Given the description of an element on the screen output the (x, y) to click on. 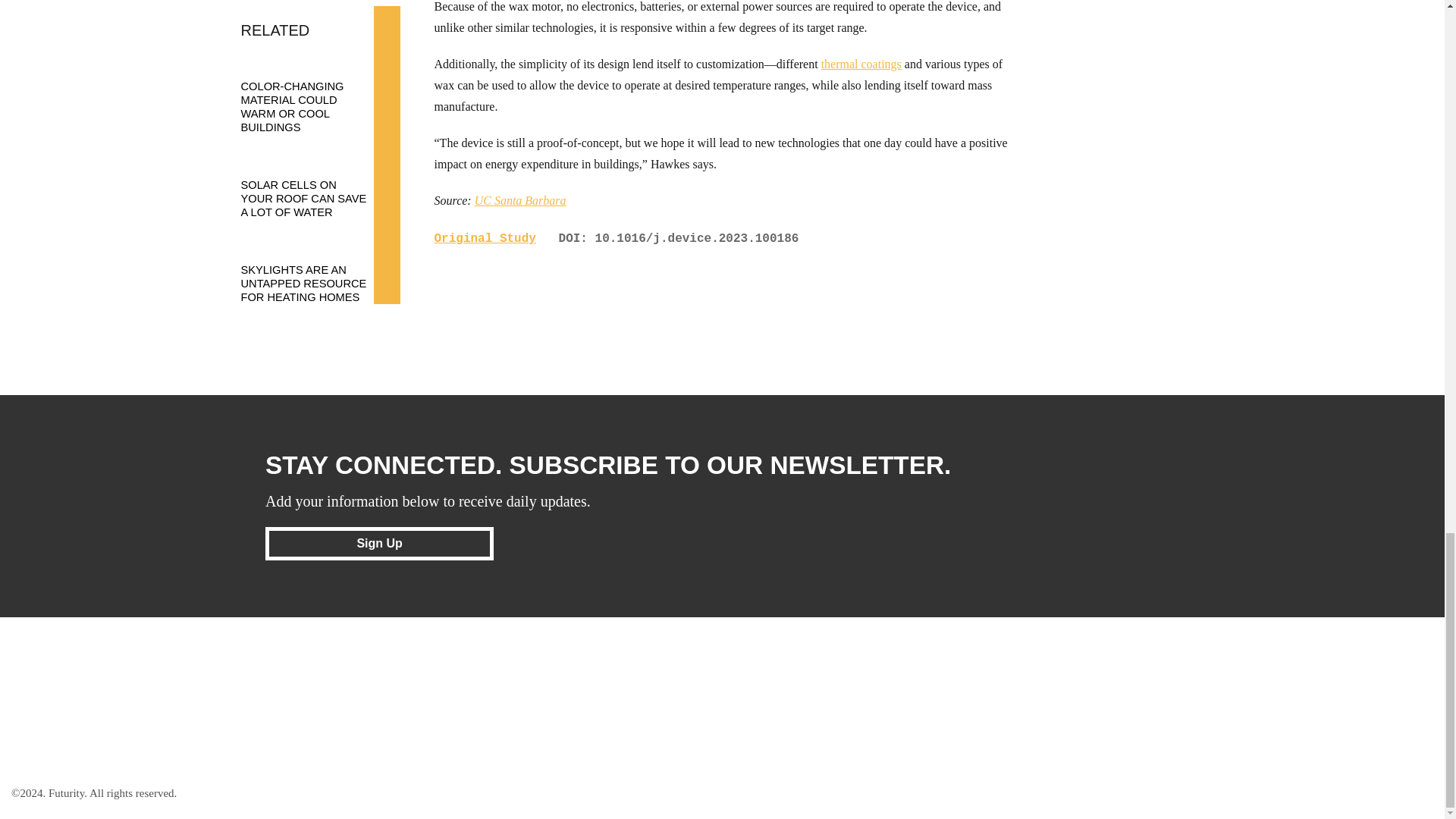
Skylights are an untapped resource for heating homes (313, 268)
Solar cells on your roof can save a lot of water (313, 184)
Color-changing material could warm or cool buildings (313, 92)
